Given the description of an element on the screen output the (x, y) to click on. 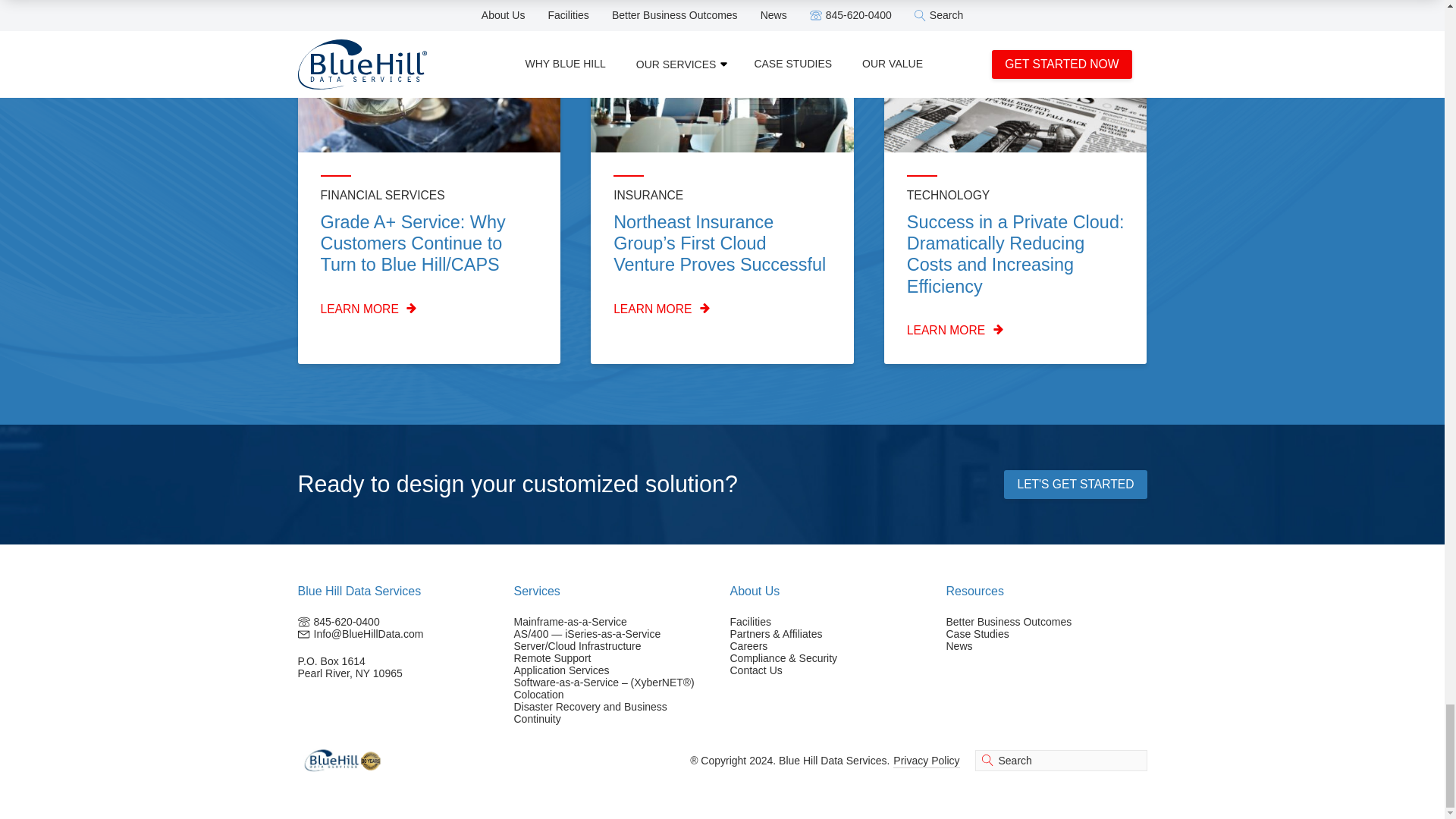
LEARN MORE (721, 309)
845-620-0400 (347, 621)
LEARN MORE (428, 309)
LEARN MORE (1015, 330)
LET'S GET STARTED (1075, 484)
Mainframe-as-a-Service (570, 621)
